Given the description of an element on the screen output the (x, y) to click on. 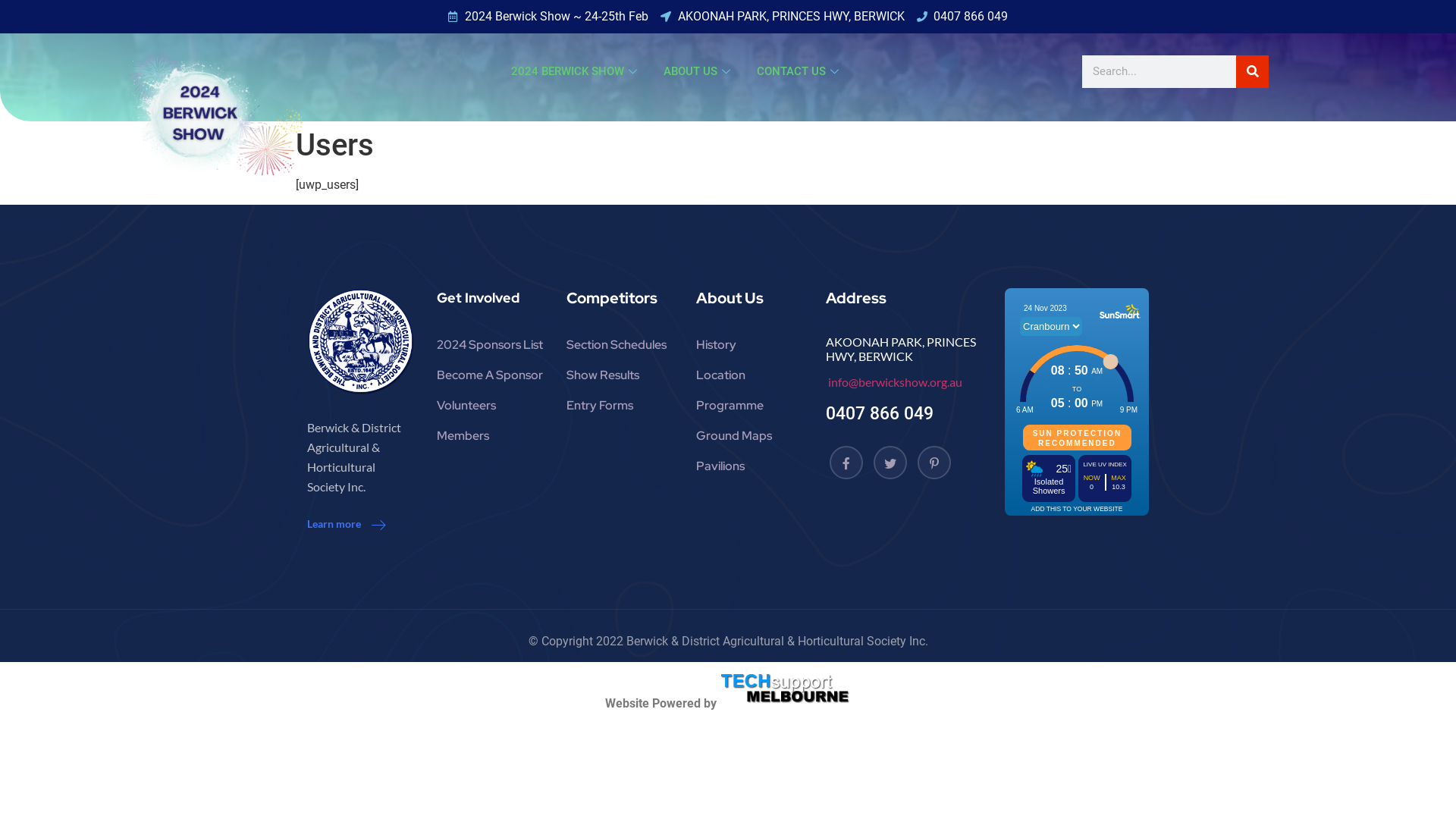
2024 BERWICK SHOW Element type: text (575, 70)
 info@berwickshow.org.au Element type: text (893, 381)
ABOUT US Element type: text (698, 70)
Programme Element type: text (749, 405)
Become A Sponsor Element type: text (489, 374)
Pavilions Element type: text (749, 465)
2024 Sponsors List Element type: text (489, 344)
Show Results Element type: text (619, 374)
Section Schedules Element type: text (619, 344)
History Element type: text (749, 344)
Learn more Element type: text (346, 524)
Entry Forms Element type: text (619, 405)
Ground Maps Element type: text (749, 435)
Location Element type: text (749, 374)
Members Element type: text (489, 435)
CONTACT US Element type: text (799, 70)
Volunteers Element type: text (489, 405)
